Given the description of an element on the screen output the (x, y) to click on. 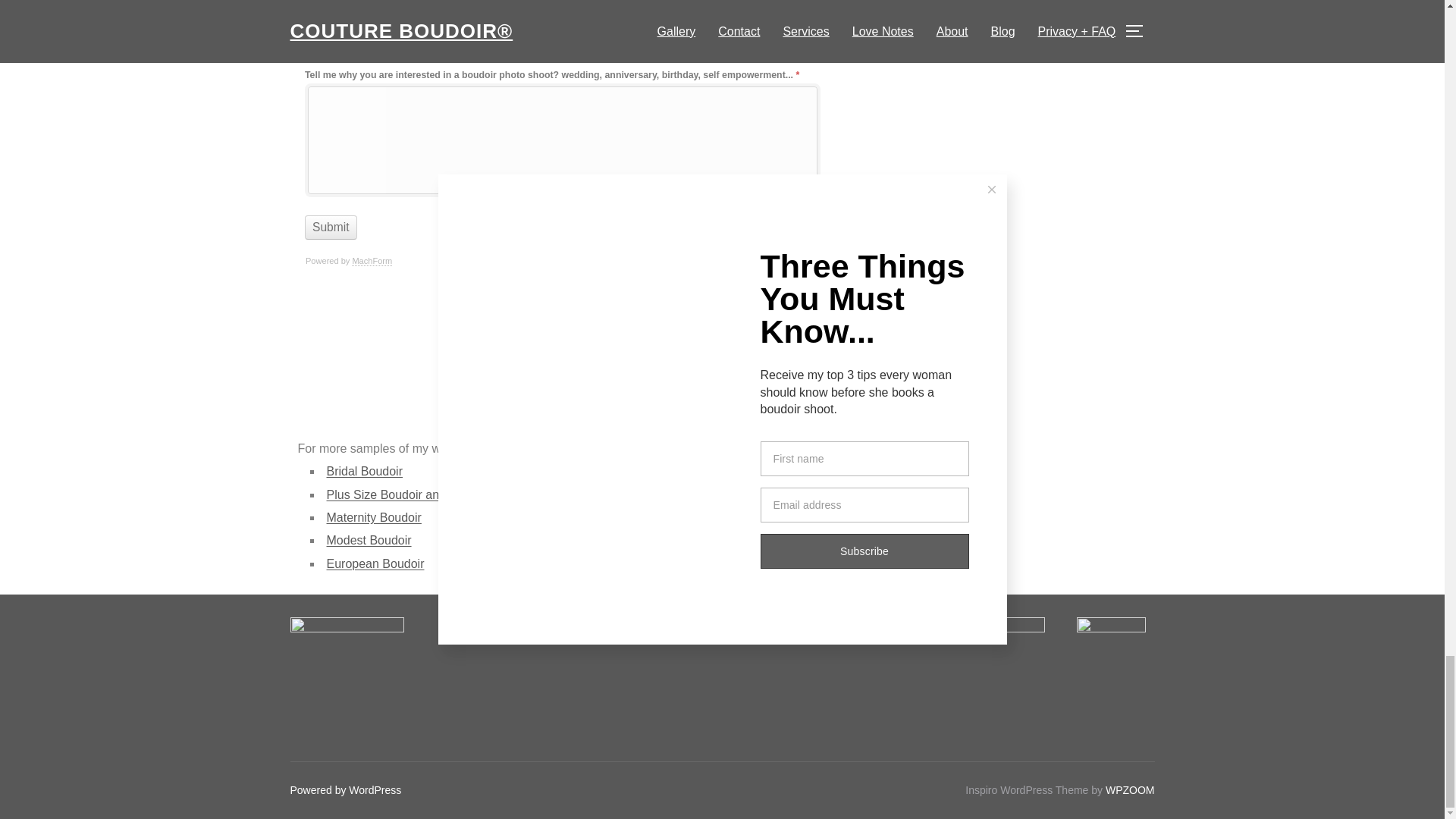
Modest Boudoir (368, 540)
Plus Size Boudoir and Curvy (403, 494)
European Boudoir (374, 563)
Maternity Boudoir (373, 517)
Bridal Boudoir (364, 471)
